Given the description of an element on the screen output the (x, y) to click on. 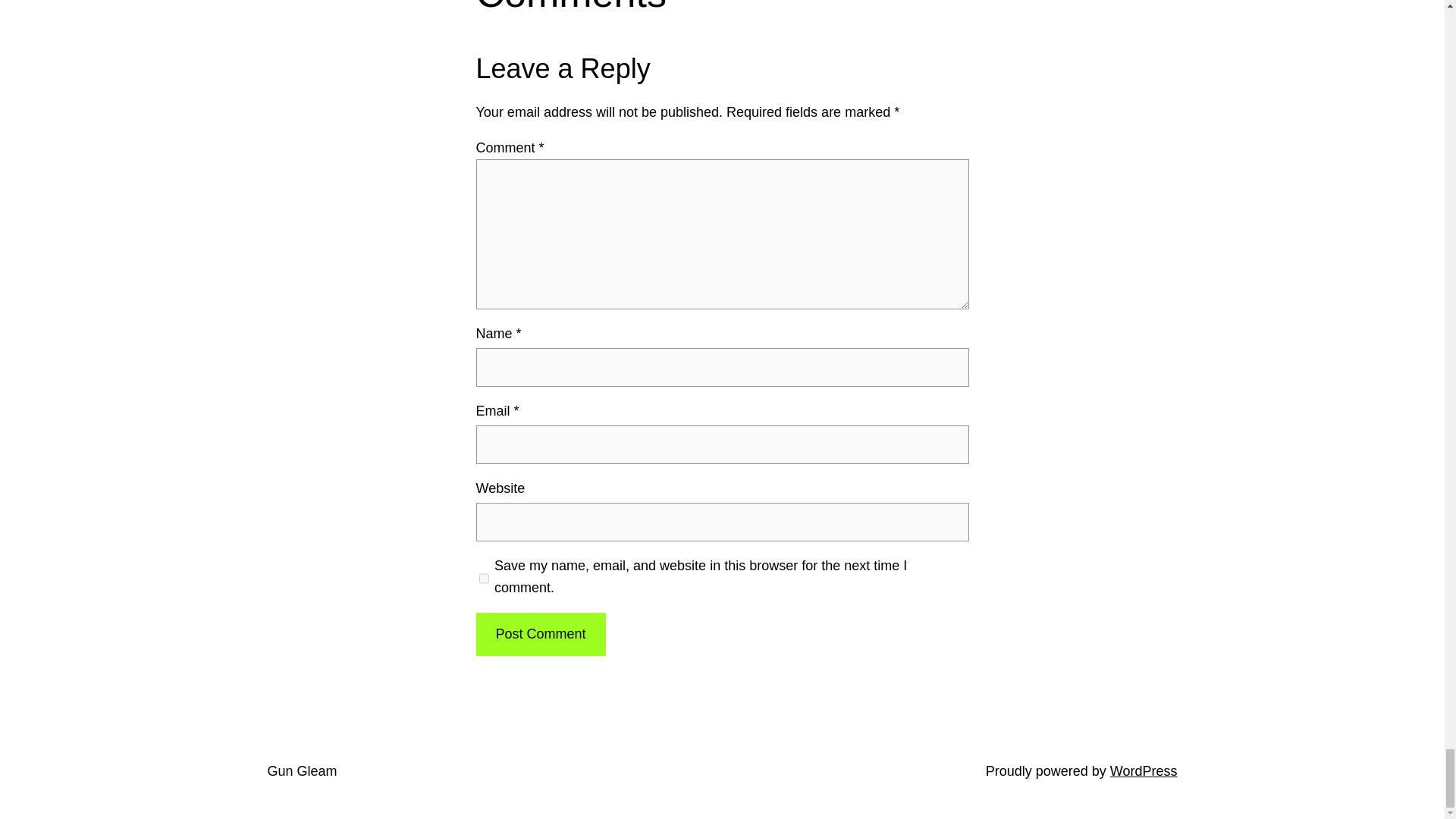
Post Comment (540, 634)
